Given the description of an element on the screen output the (x, y) to click on. 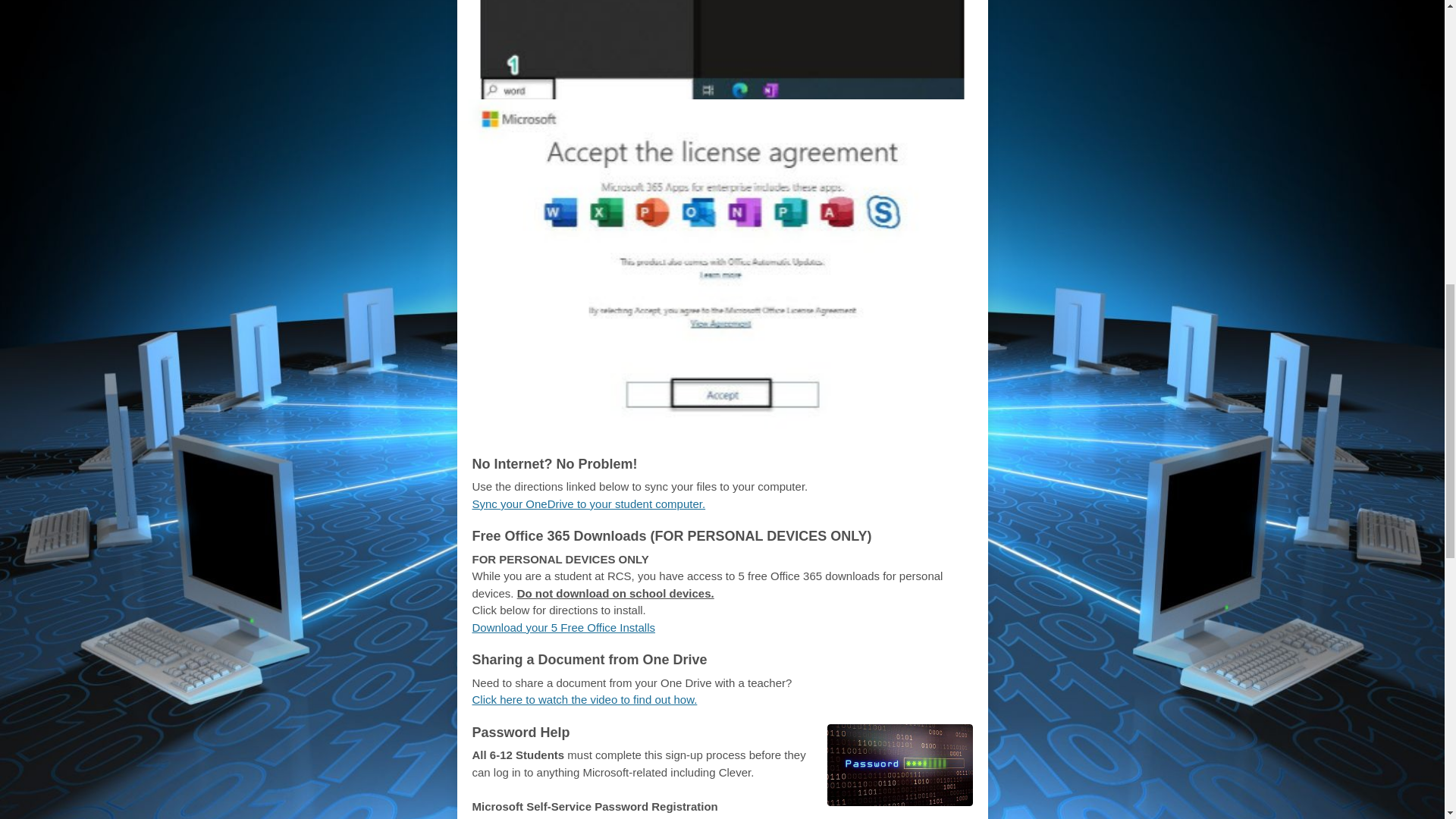
Sync your OneDrive to your student computer. (587, 503)
Download your 5 Free Office Installs (563, 626)
Click here to watch the video to find out how. (584, 698)
